Given the description of an element on the screen output the (x, y) to click on. 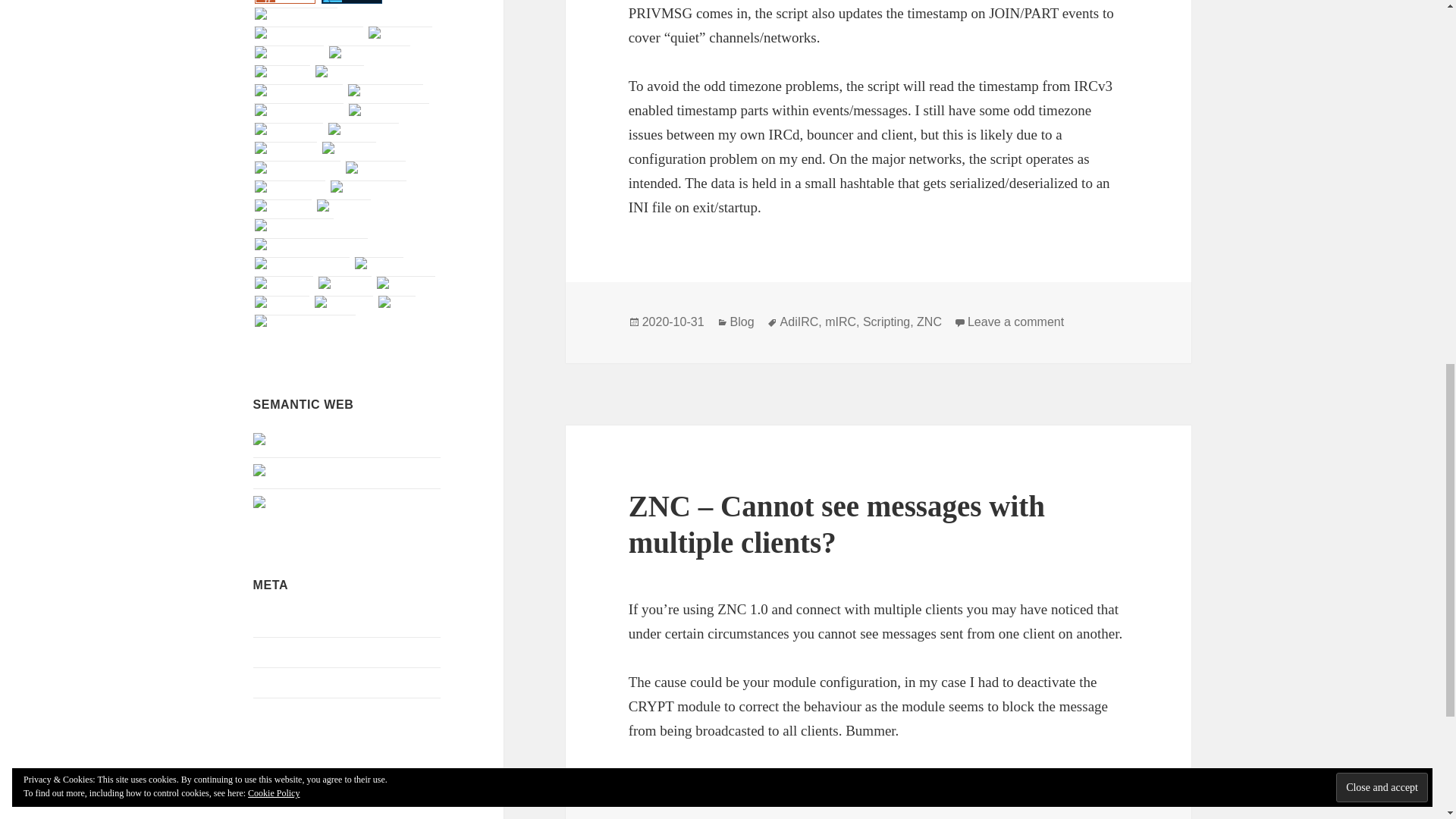
Affinity Designer (351, 2)
Affinity Designer (351, 2)
